Given the description of an element on the screen output the (x, y) to click on. 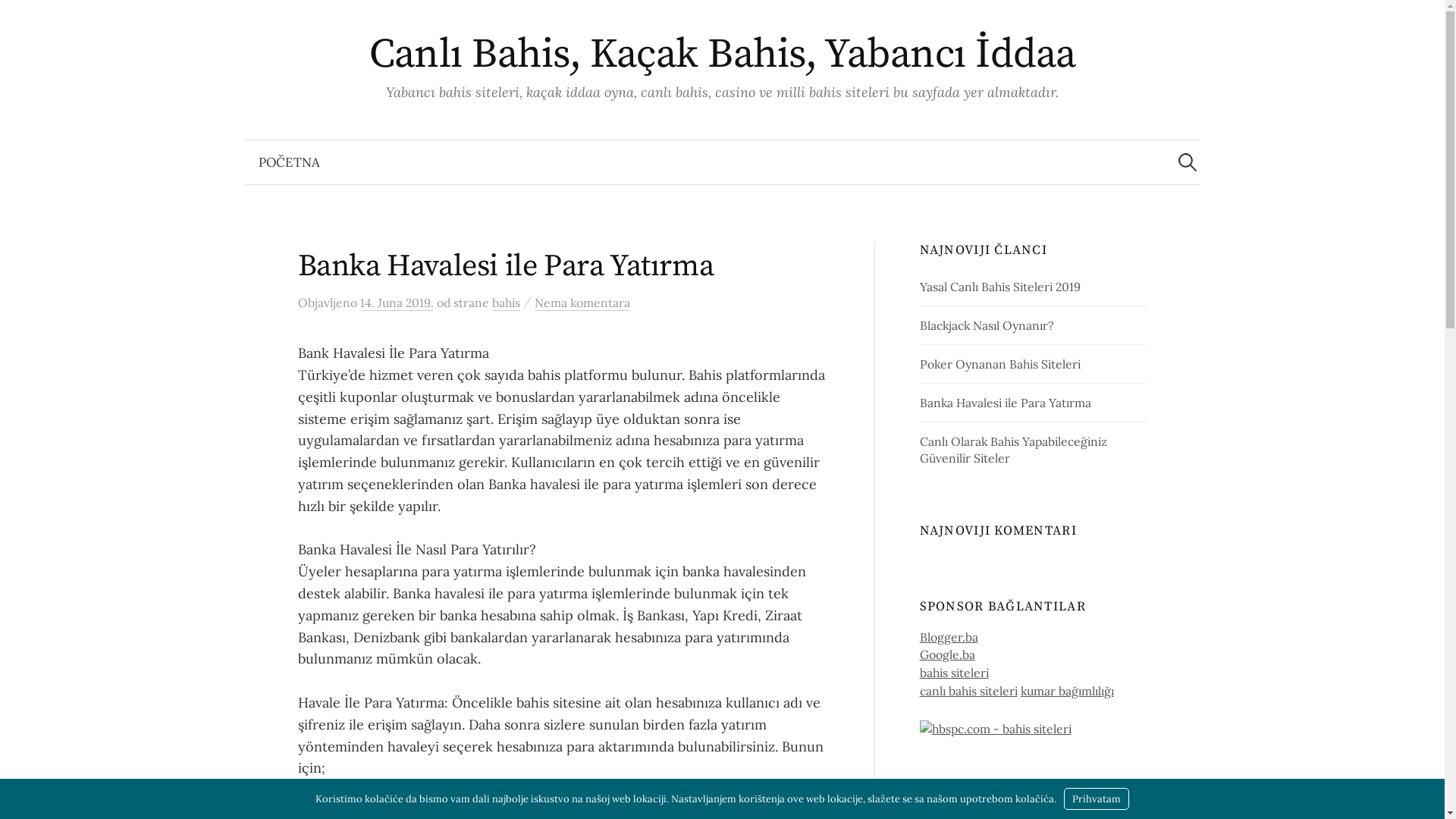
Blogger.ba Element type: text (948, 636)
Poker Oynanan Bahis Siteleri Element type: text (999, 363)
bahis siteleri Element type: text (953, 672)
14. Juna 2019. Element type: text (396, 302)
hbspc.com - bahis siteleri Element type: hover (995, 726)
Prihvatam Element type: text (1096, 798)
Pretraga Element type: text (18, 18)
Google.ba Element type: text (947, 654)
bahis Element type: text (505, 302)
